Given the description of an element on the screen output the (x, y) to click on. 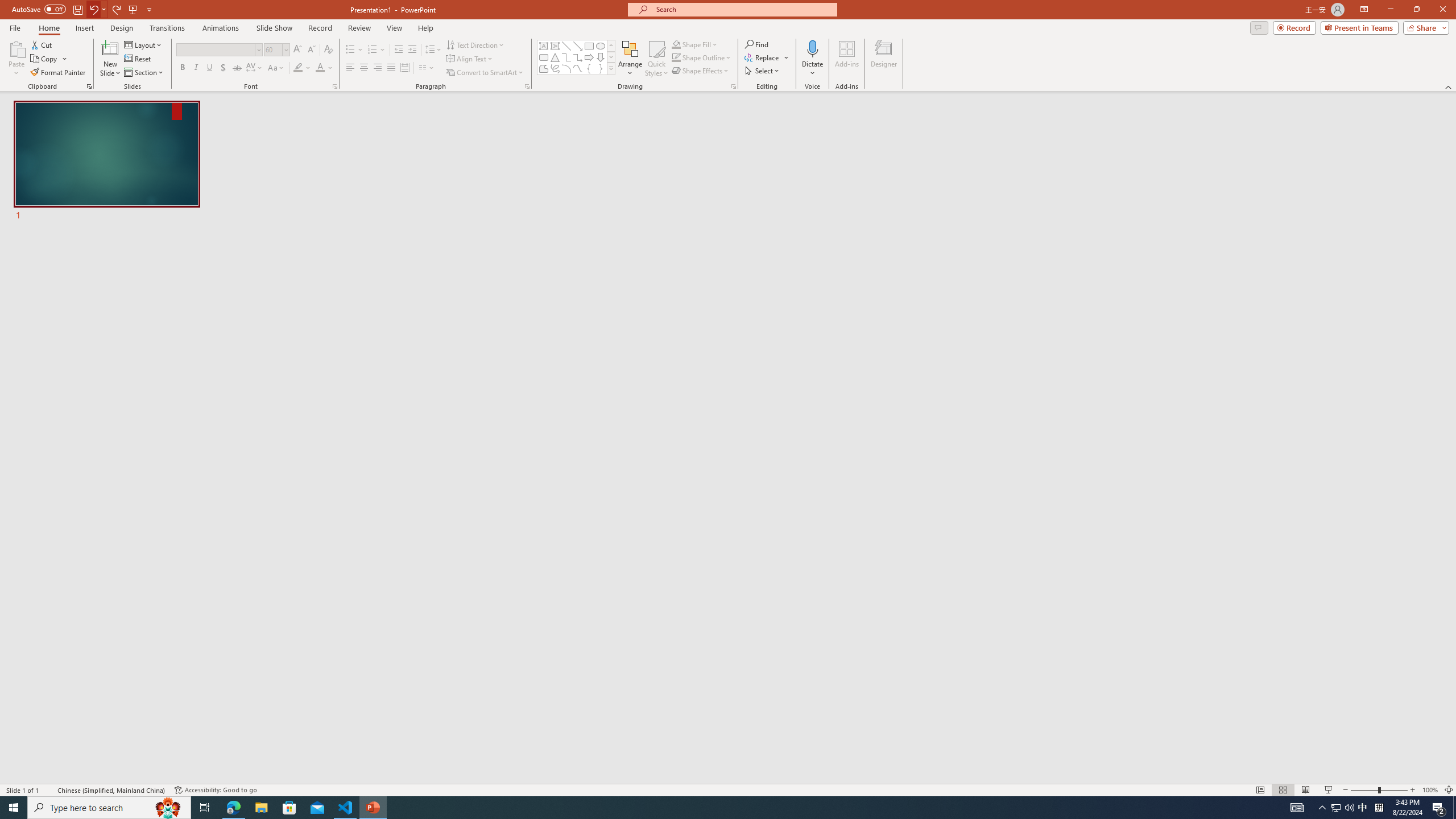
Shape Fill Orange, Accent 2 (675, 44)
